Given the description of an element on the screen output the (x, y) to click on. 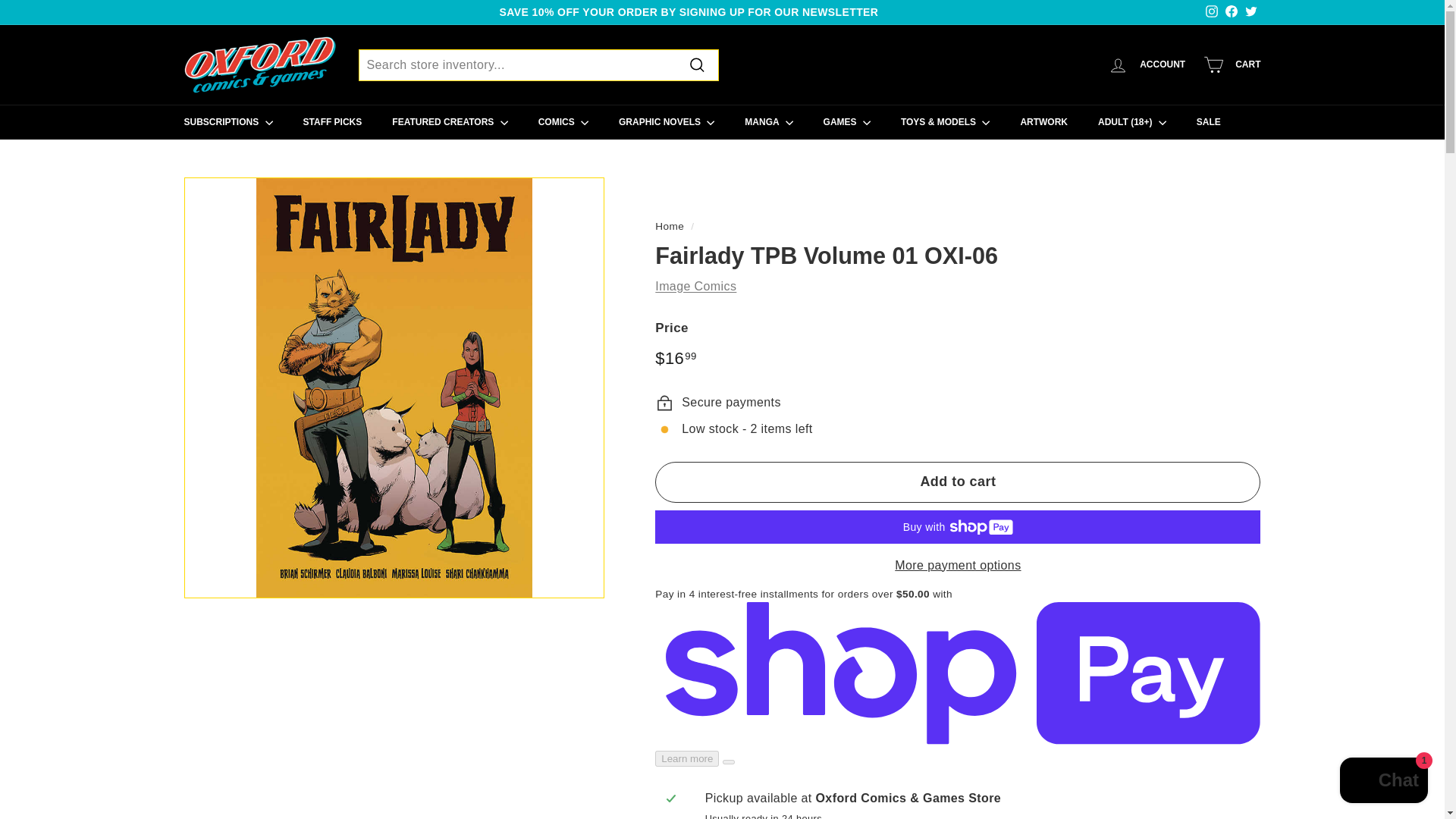
Back to the frontpage (669, 225)
instagram (1211, 10)
twitter (1250, 10)
ACCOUNT (1146, 64)
CART (1231, 64)
STAFF PICKS (332, 121)
